Given the description of an element on the screen output the (x, y) to click on. 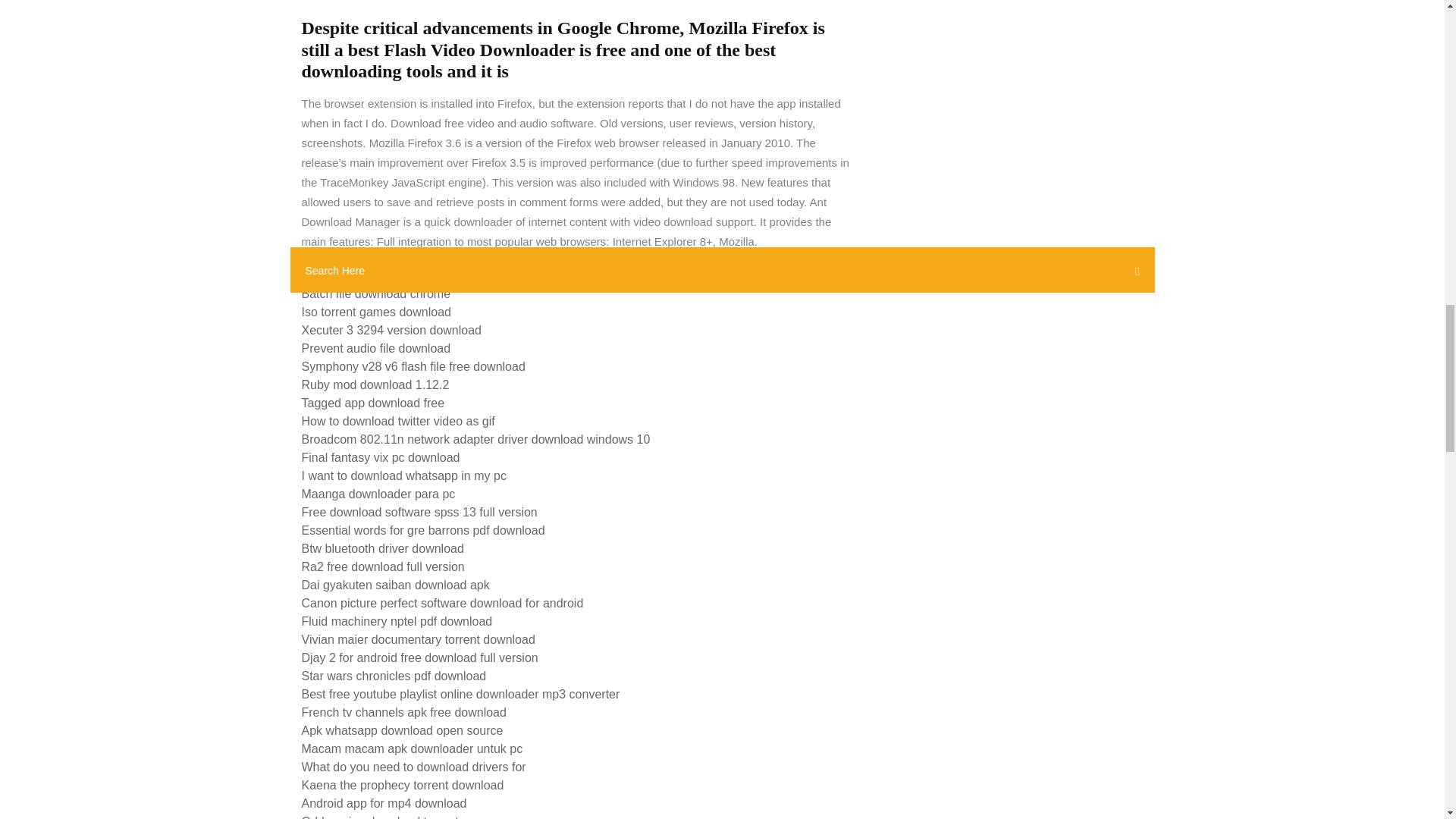
Symphony v28 v6 flash file free download (413, 366)
I want to download whatsapp in my pc (403, 475)
Broadcom 802.11n network adapter driver download windows 10 (475, 439)
Fluid machinery nptel pdf download (397, 621)
Final fantasy vix pc download (380, 457)
Djay 2 for android free download full version (419, 657)
Xecuter 3 3294 version download (391, 329)
Star wars chronicles pdf download (393, 675)
Ra2 free download full version (382, 566)
Batch file download chrome (376, 293)
How to download twitter video as gif (398, 420)
Free download software spss 13 full version (419, 512)
Ruby mod download 1.12.2 (375, 384)
Maanga downloader para pc (378, 493)
Vivian maier documentary torrent download (418, 639)
